Given the description of an element on the screen output the (x, y) to click on. 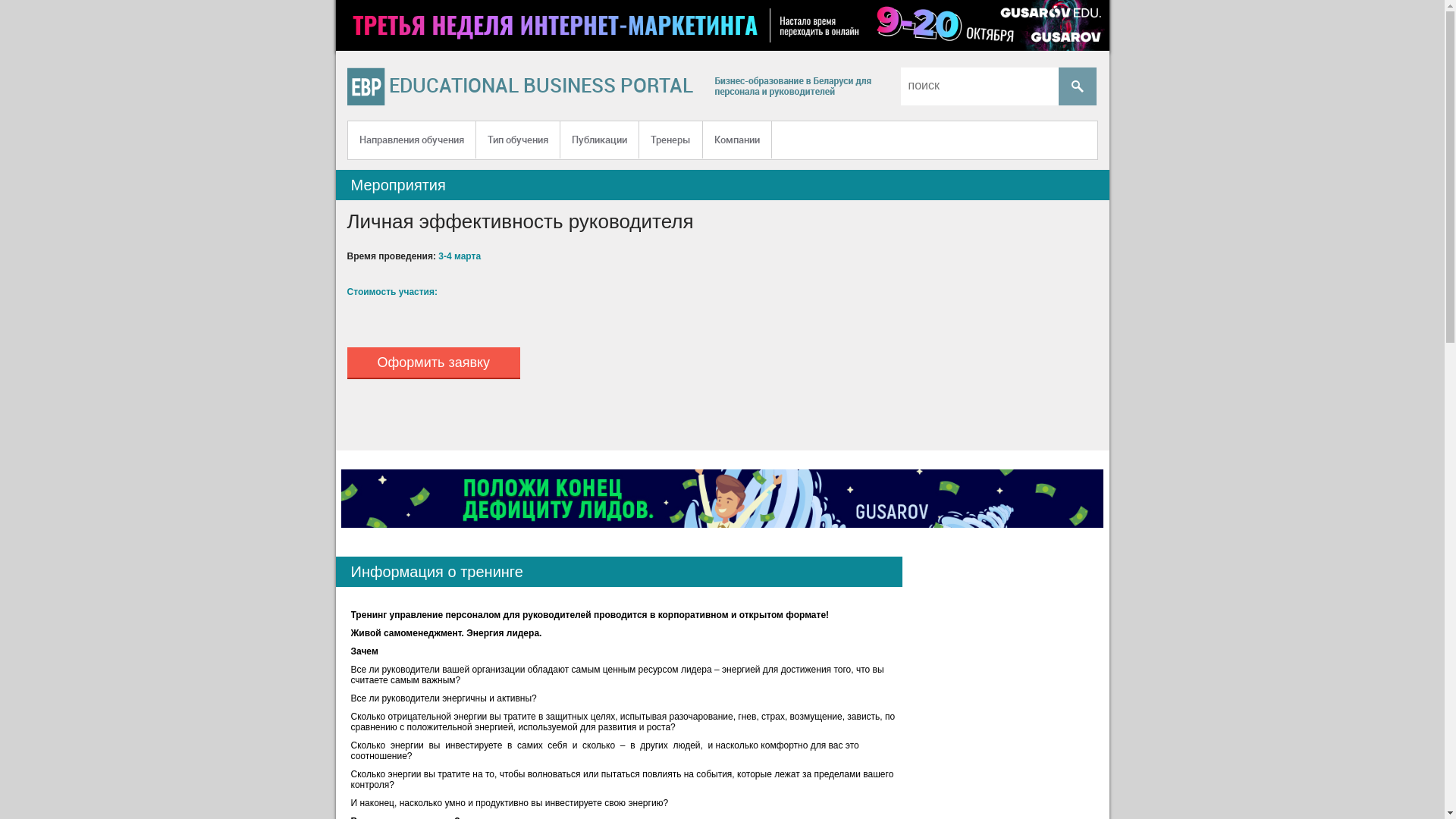
EDUCATIONAL BUSINESS PORTAL Element type: text (540, 88)
